Given the description of an element on the screen output the (x, y) to click on. 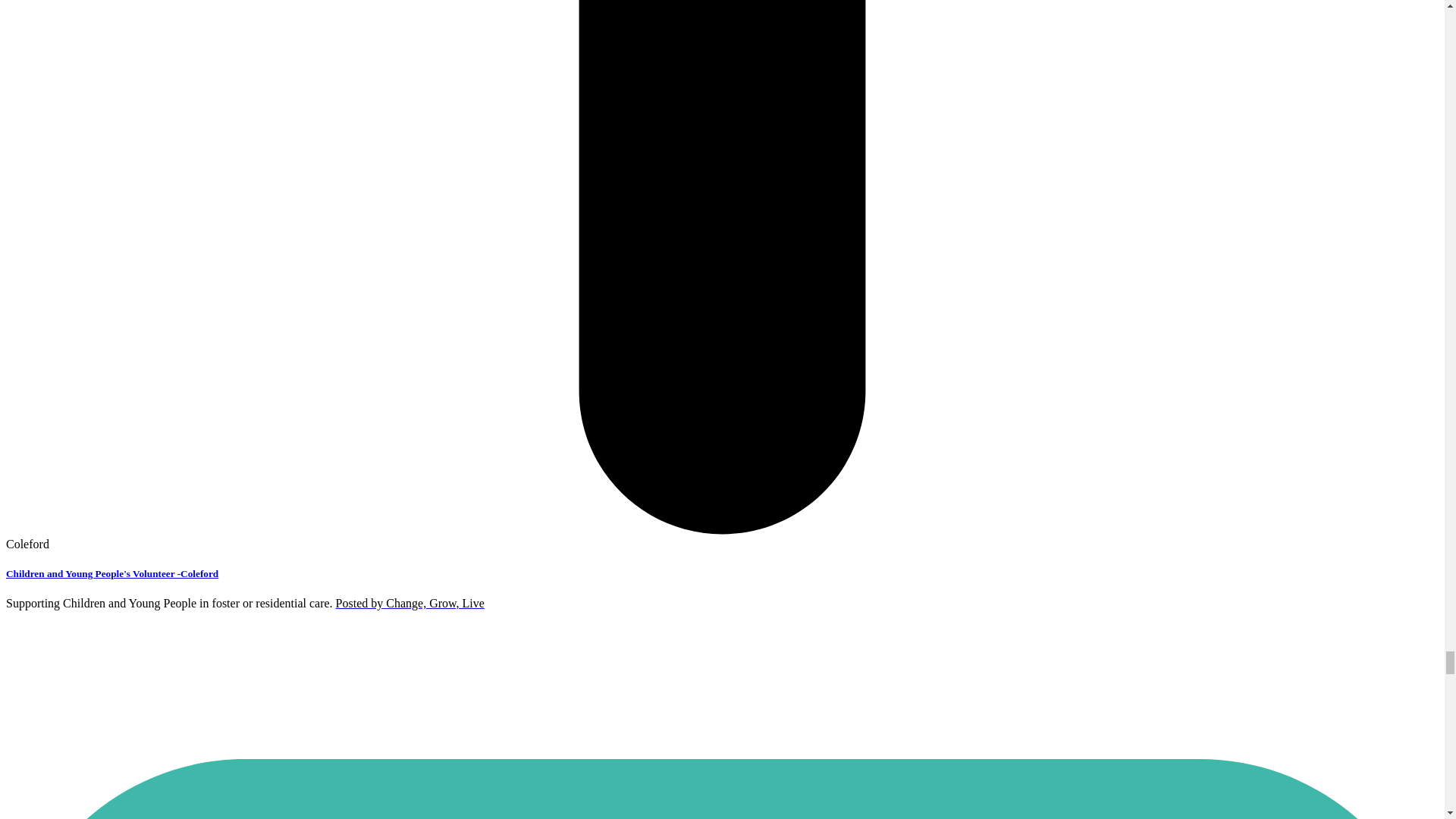
Posted by Change, Grow, Live (410, 603)
